Given the description of an element on the screen output the (x, y) to click on. 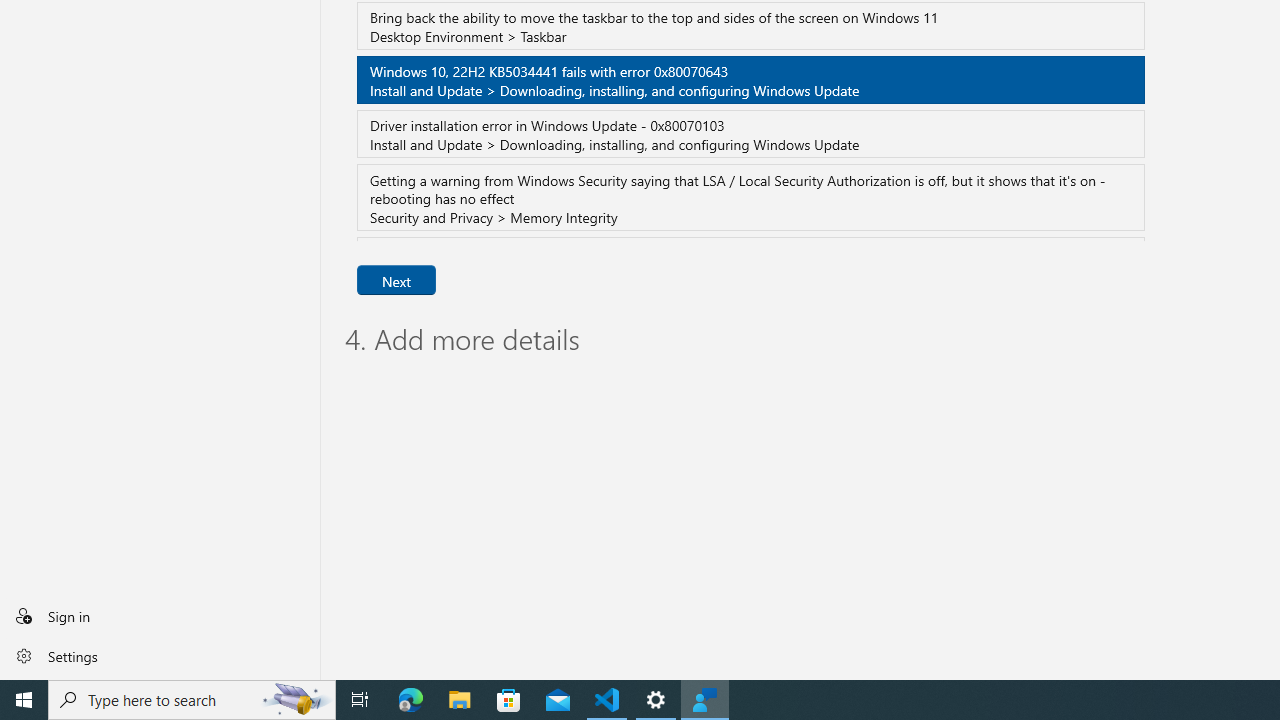
Feedback Hub - 1 running window (704, 699)
Settings (159, 655)
